Given the description of an element on the screen output the (x, y) to click on. 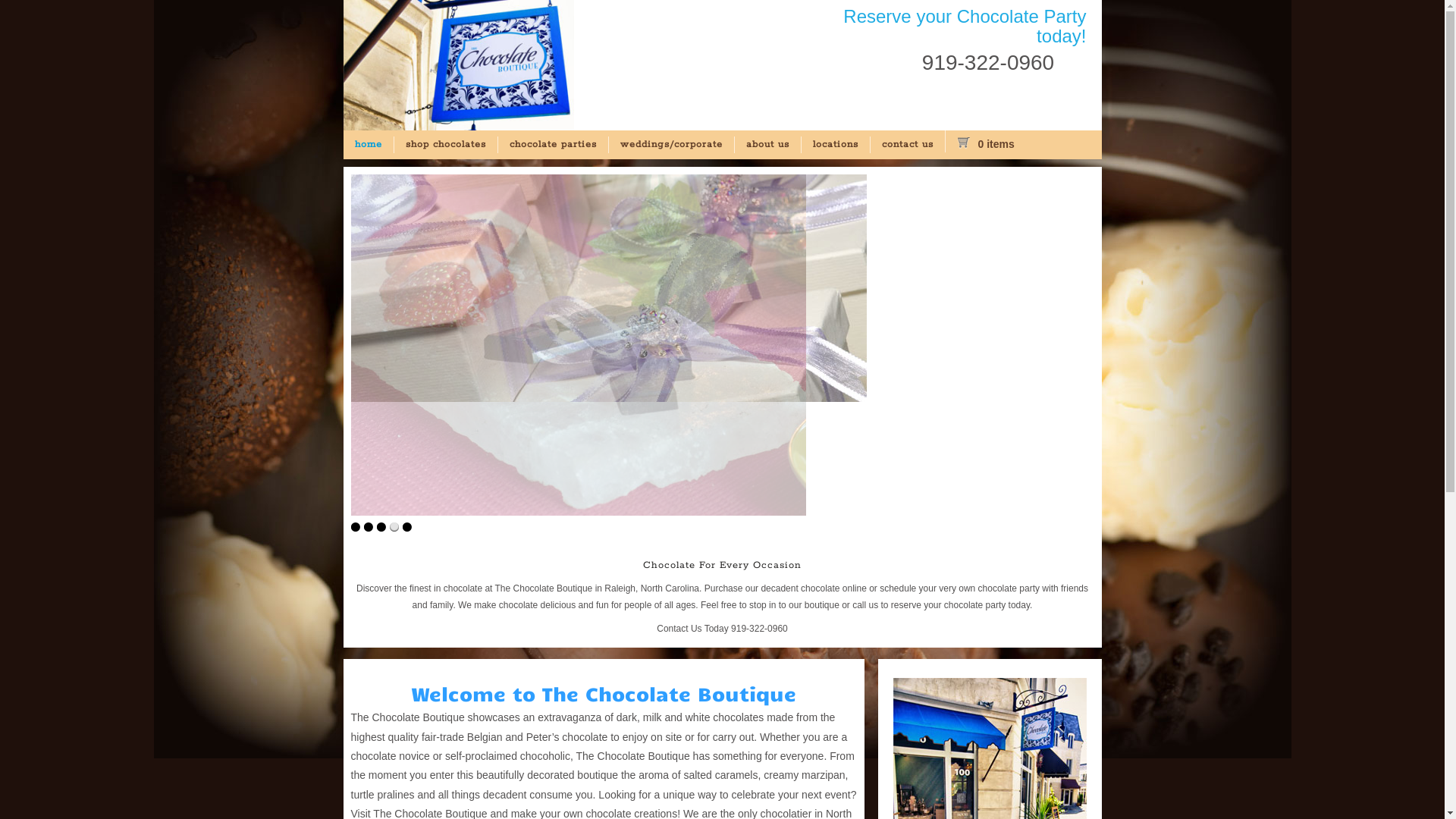
1 Element type: text (354, 526)
contact us Element type: text (906, 144)
weddings/corporate Element type: text (671, 144)
2 Element type: text (368, 526)
The Chocolate Boutique Element type: hover (457, 127)
shop chocolates Element type: text (444, 144)
about us Element type: text (767, 144)
4 Element type: text (393, 526)
3 Element type: text (380, 526)
chocolate parties Element type: text (552, 144)
5 Element type: text (406, 526)
0 items Element type: text (994, 143)
home Element type: text (367, 144)
locations Element type: text (834, 144)
